Given the description of an element on the screen output the (x, y) to click on. 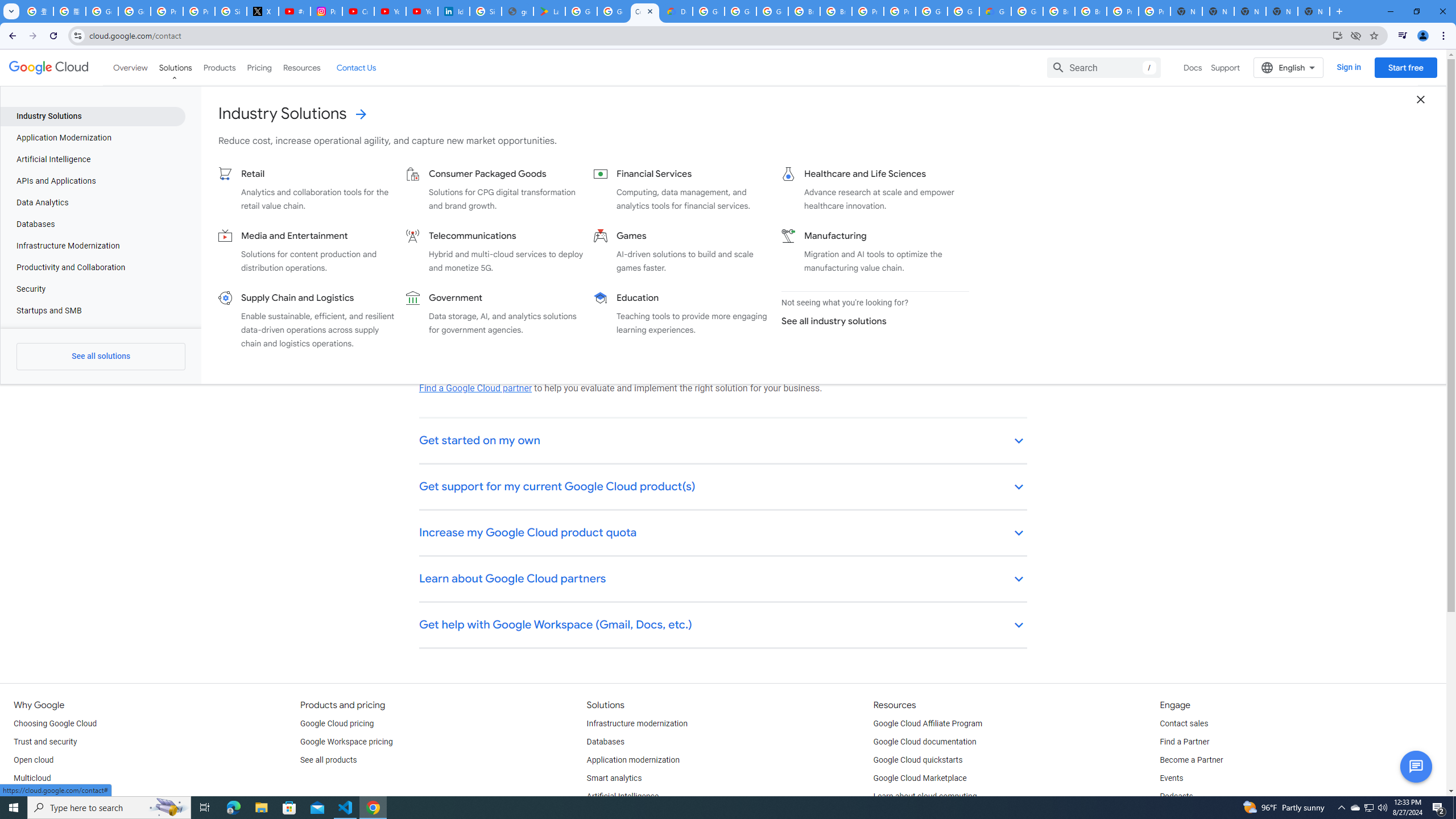
Start free (1405, 67)
Privacy Help Center - Policies Help (198, 11)
Smart analytics (614, 778)
Find a Partner (1183, 742)
Find a Google Cloud partner (475, 387)
